Given the description of an element on the screen output the (x, y) to click on. 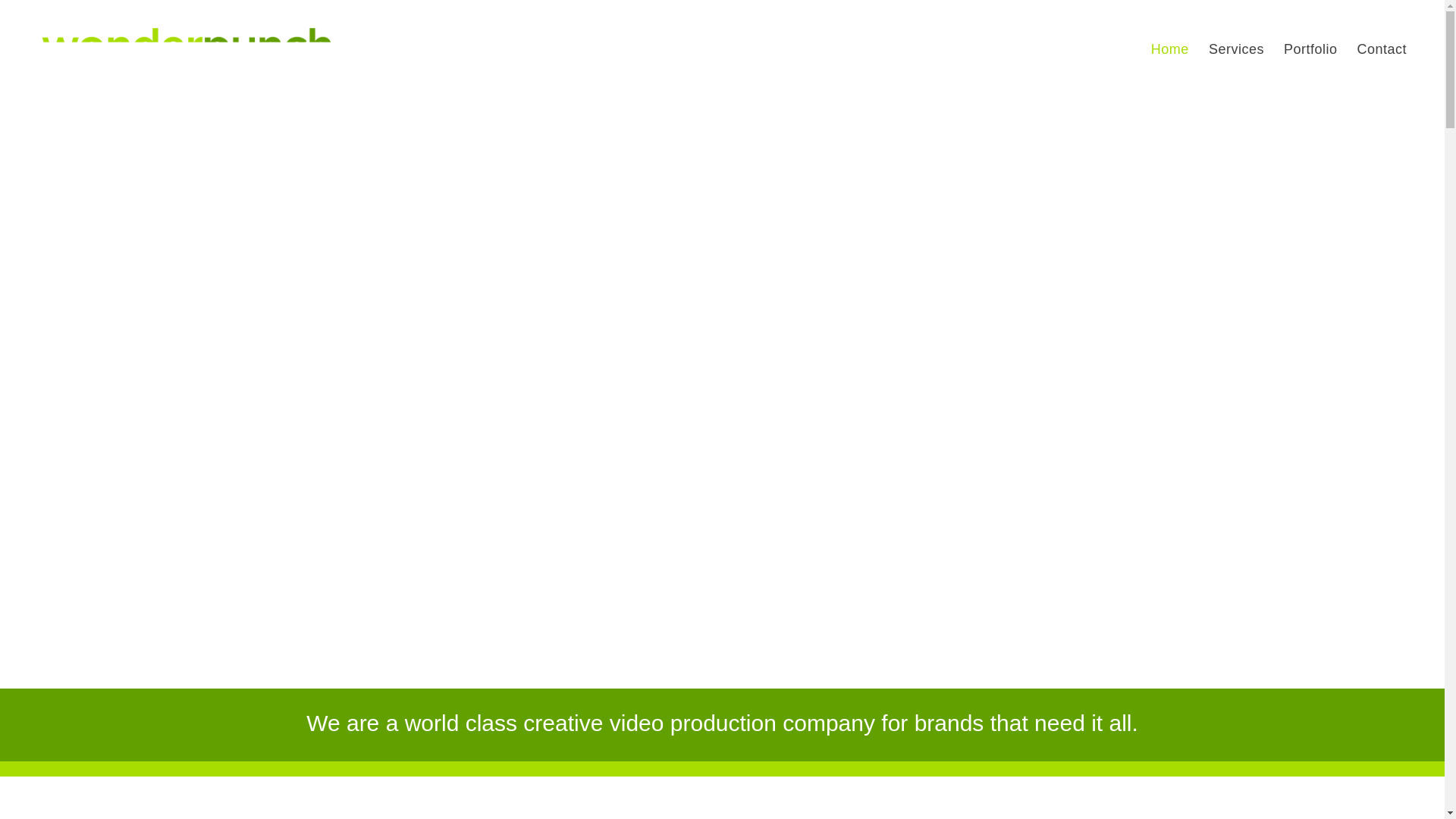
Portfolio (1311, 54)
Contact (1381, 54)
Home (1170, 54)
wonderpunch logo video production company (191, 48)
Services (1235, 54)
